Given the description of an element on the screen output the (x, y) to click on. 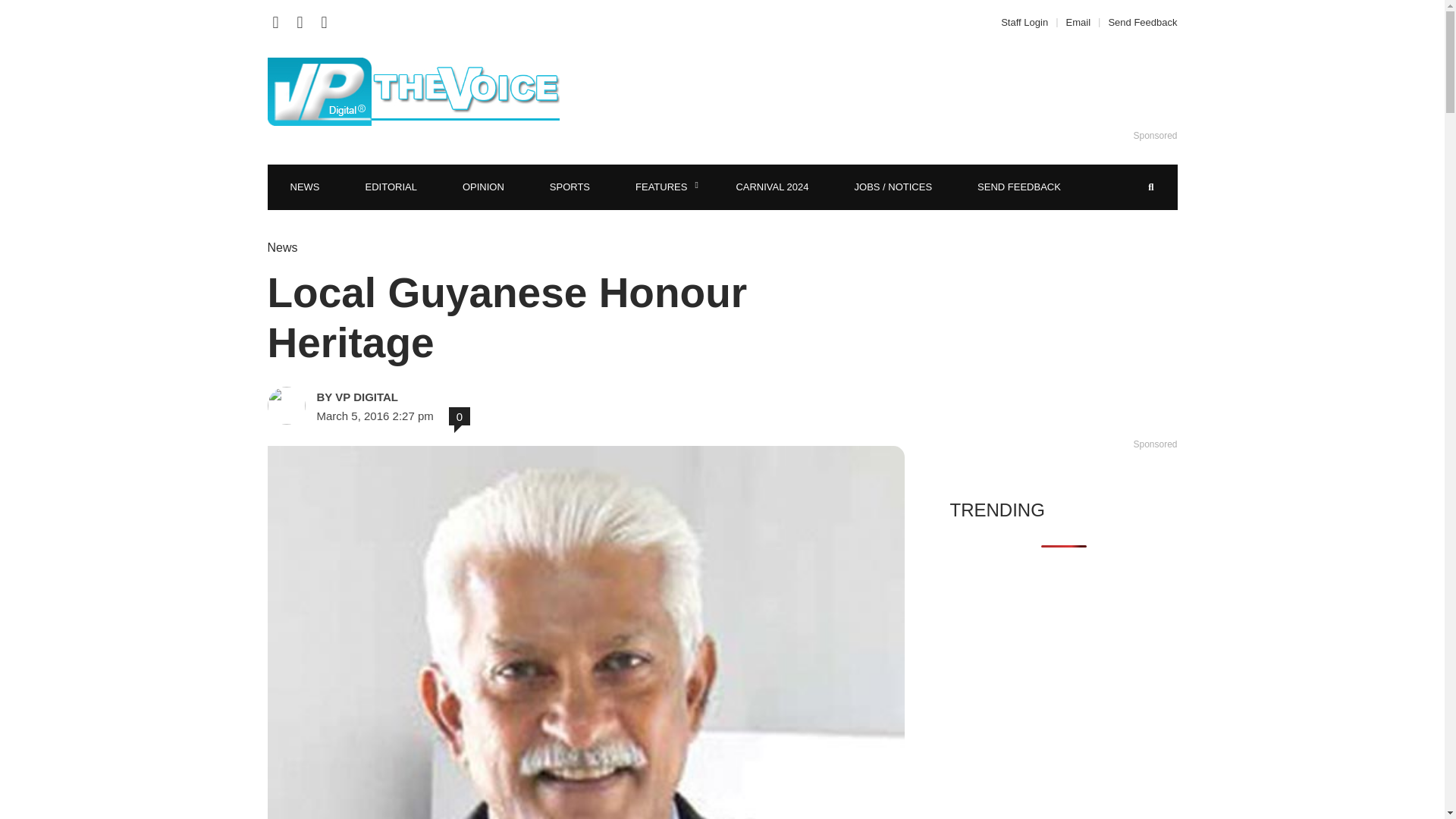
Staff Login (1028, 21)
CARNIVAL 2024 (772, 186)
VP DIGITAL (422, 396)
News (281, 246)
Send Feedback (1138, 21)
SEND FEEDBACK (1019, 186)
Email (1078, 21)
OPINION (483, 186)
EDITORIAL (390, 186)
View all posts by VP Digital (422, 396)
